Given the description of an element on the screen output the (x, y) to click on. 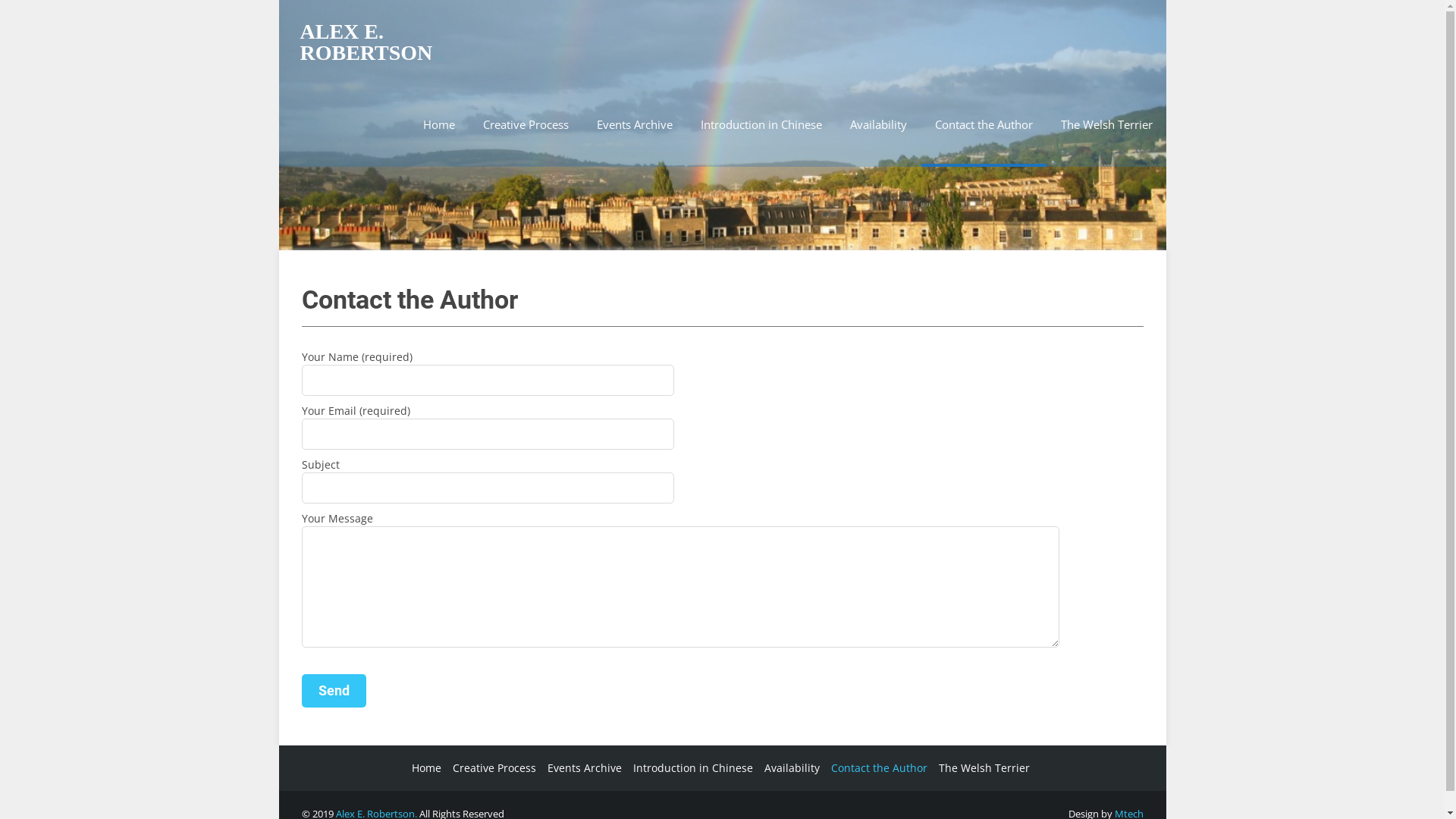
ALEX E. ROBERTSON . Element type: text (410, 42)
Introduction in Chinese Element type: text (691, 767)
The Welsh Terrier Element type: text (981, 767)
Home Element type: text (438, 123)
Events Archive Element type: text (633, 123)
The Welsh Terrier Element type: text (1105, 123)
Creative Process Element type: text (492, 767)
Events Archive Element type: text (581, 767)
Availability Element type: text (877, 123)
Availability Element type: text (789, 767)
Contact the Author Element type: text (982, 125)
Introduction in Chinese Element type: text (761, 123)
Creative Process Element type: text (524, 123)
Send Element type: text (333, 690)
Contact the Author Element type: text (876, 767)
Home Element type: text (424, 767)
